Given the description of an element on the screen output the (x, y) to click on. 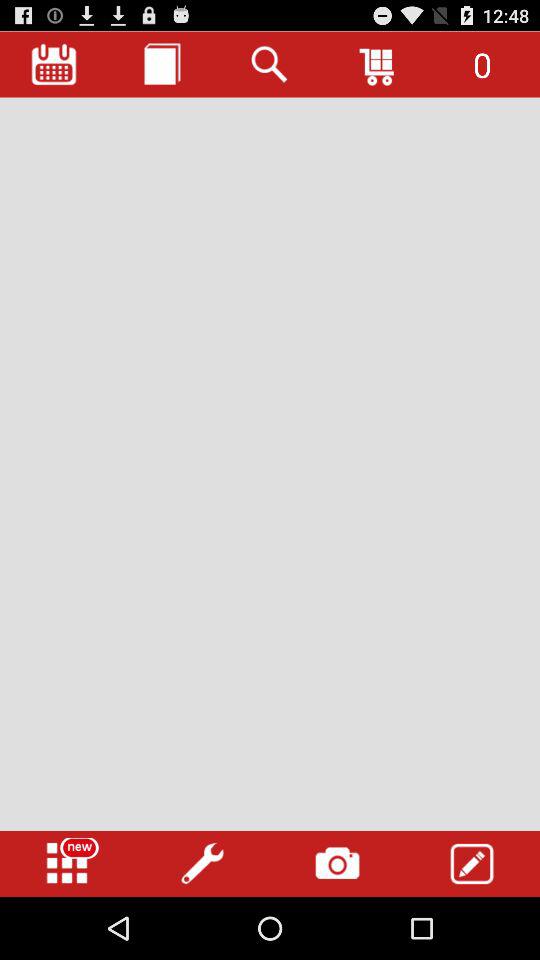
click icon at the bottom right corner (472, 863)
